Given the description of an element on the screen output the (x, y) to click on. 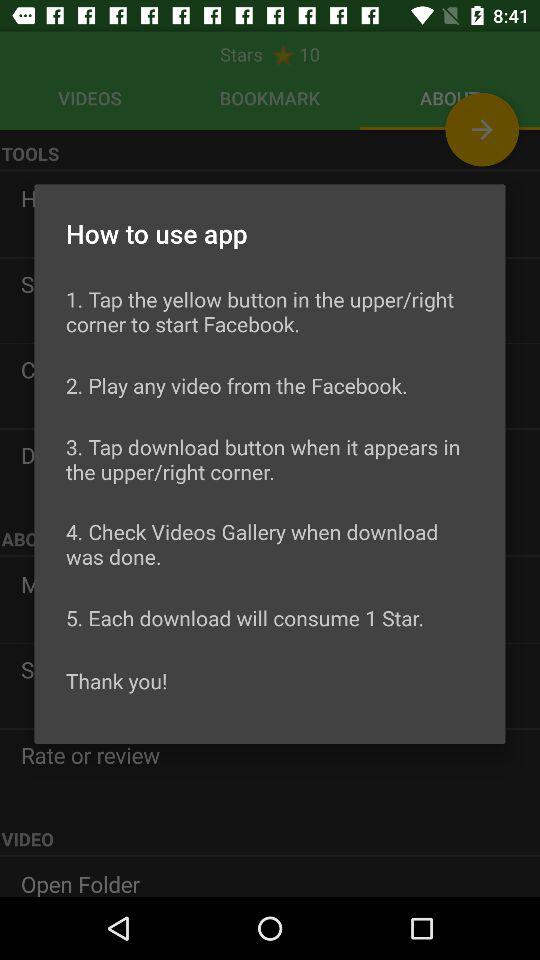
press the icon below the 3 tap download (269, 543)
